Given the description of an element on the screen output the (x, y) to click on. 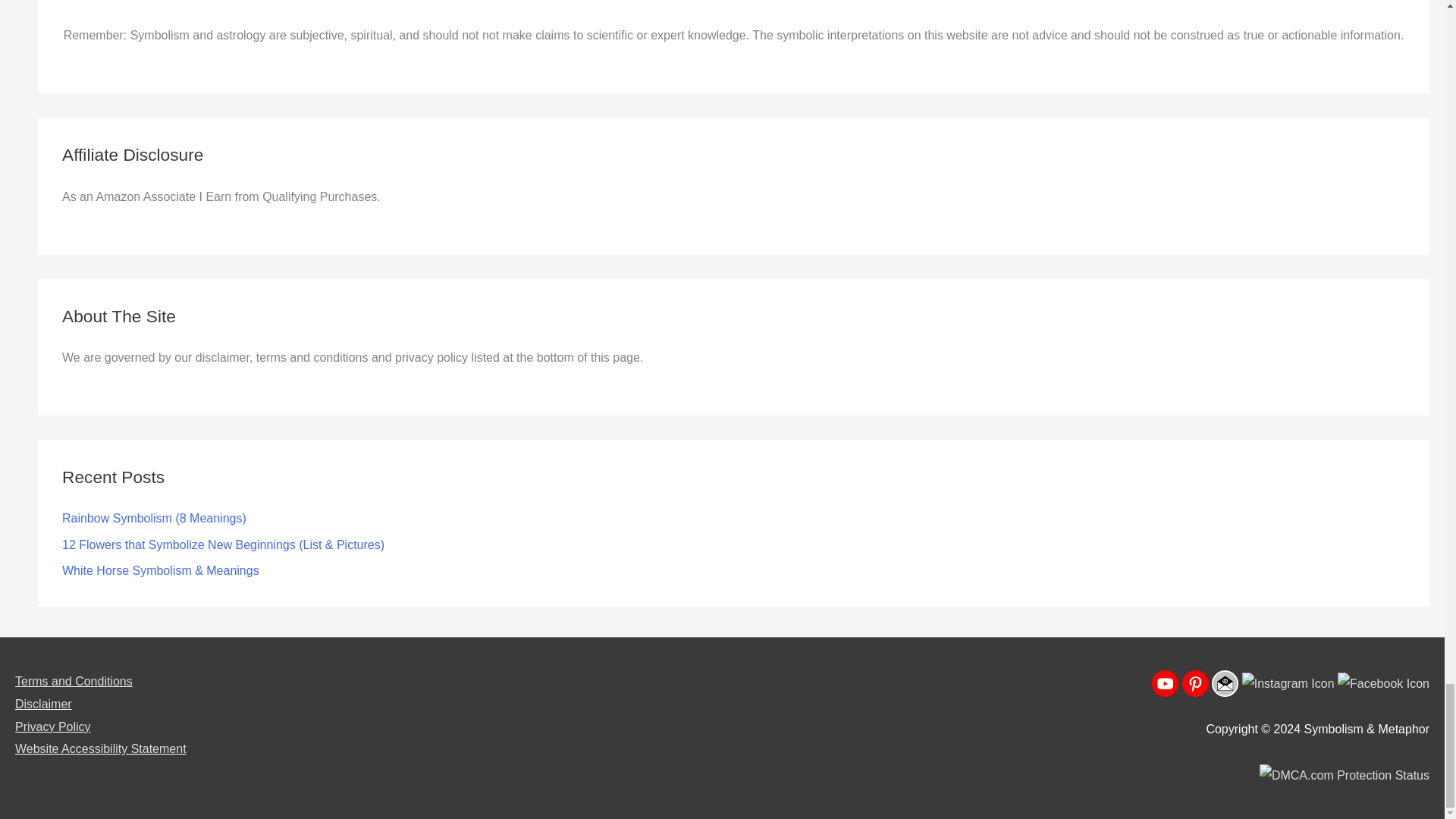
DMCA.com Protection Status (1344, 774)
Privacy Policy (52, 725)
Terms and Conditions (73, 680)
Disclaimer (42, 703)
Website Accessibility Statement (100, 748)
